Given the description of an element on the screen output the (x, y) to click on. 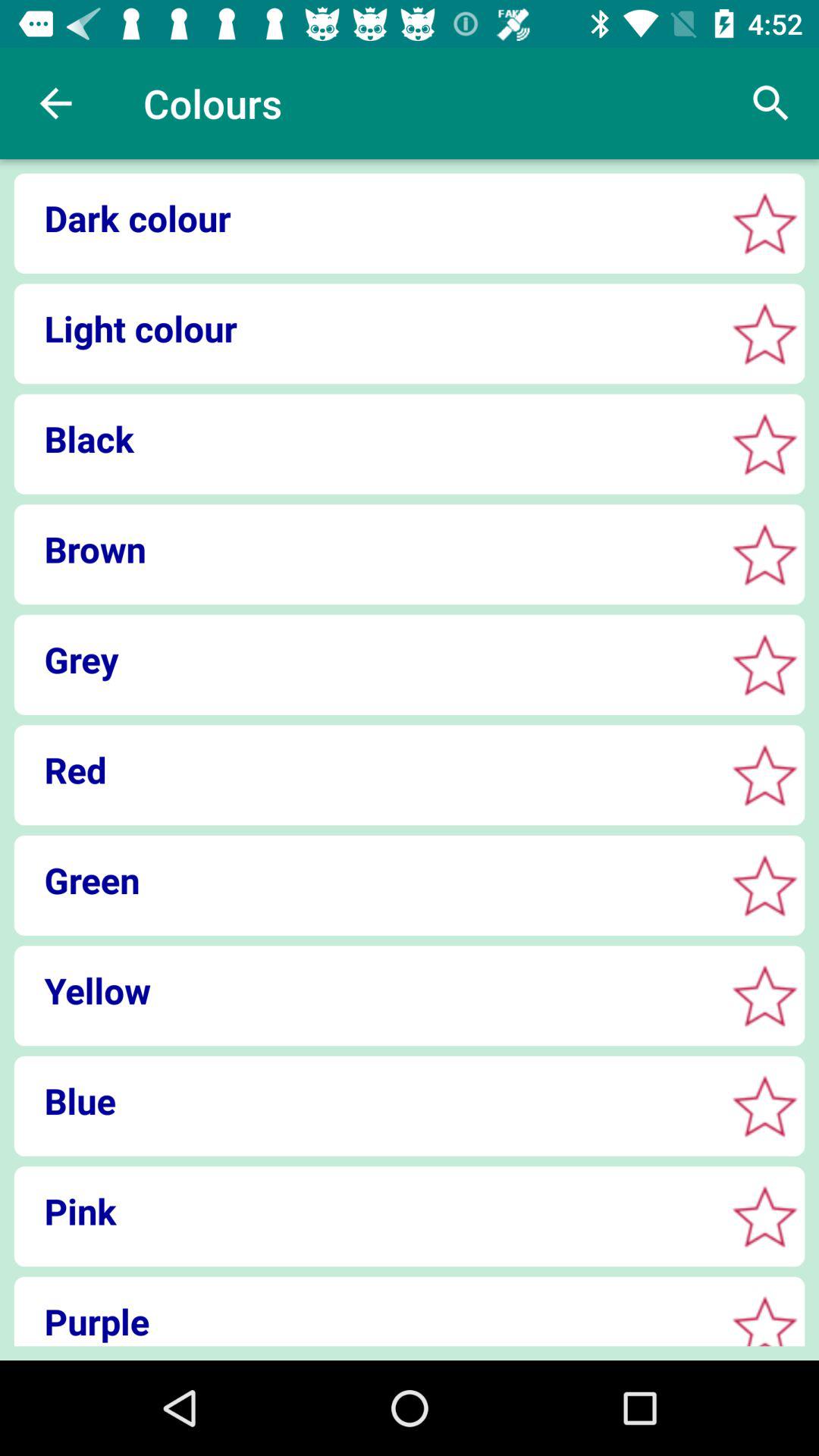
review star button purple (764, 1323)
